Given the description of an element on the screen output the (x, y) to click on. 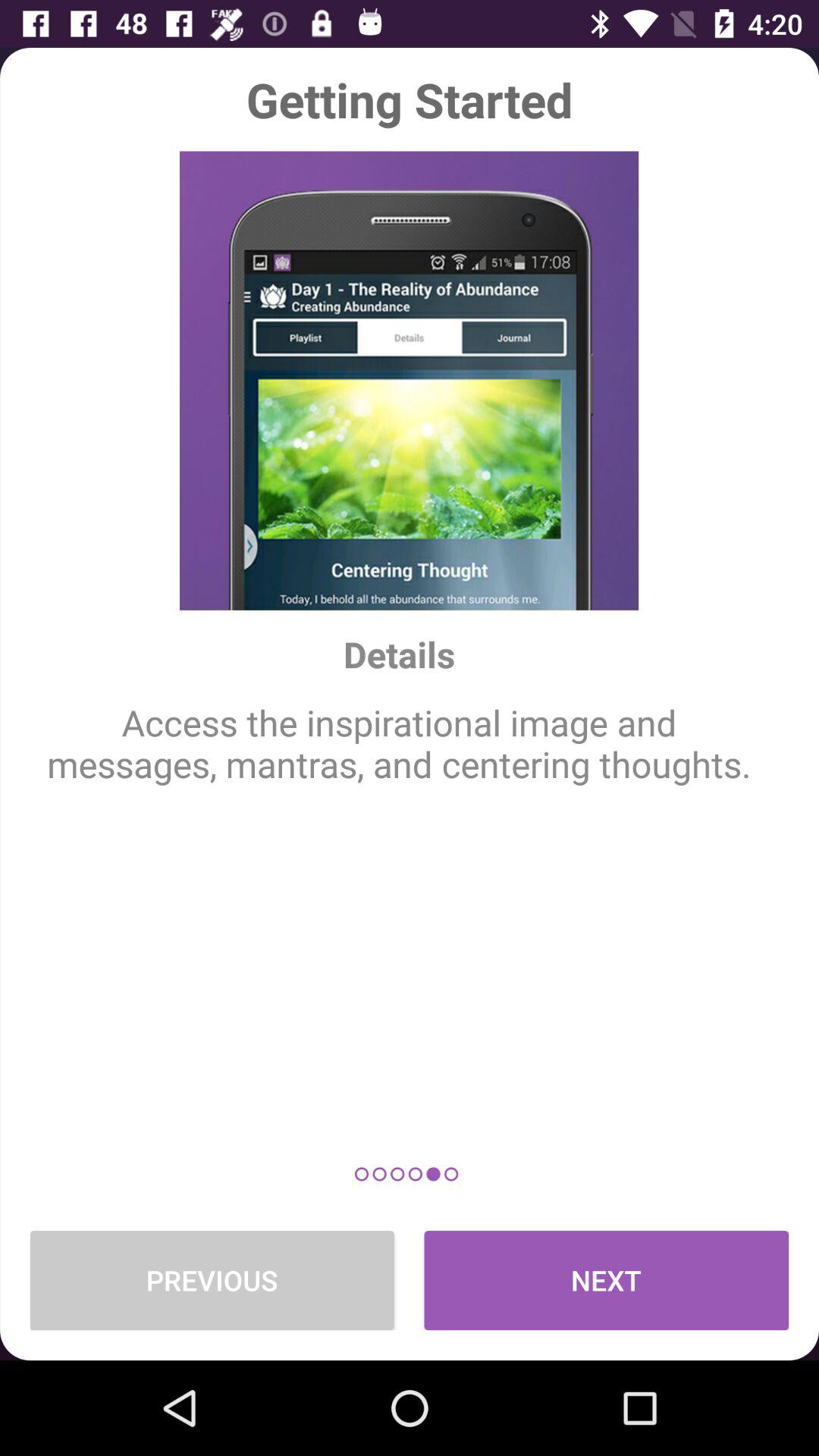
open the next at the bottom right corner (606, 1280)
